Given the description of an element on the screen output the (x, y) to click on. 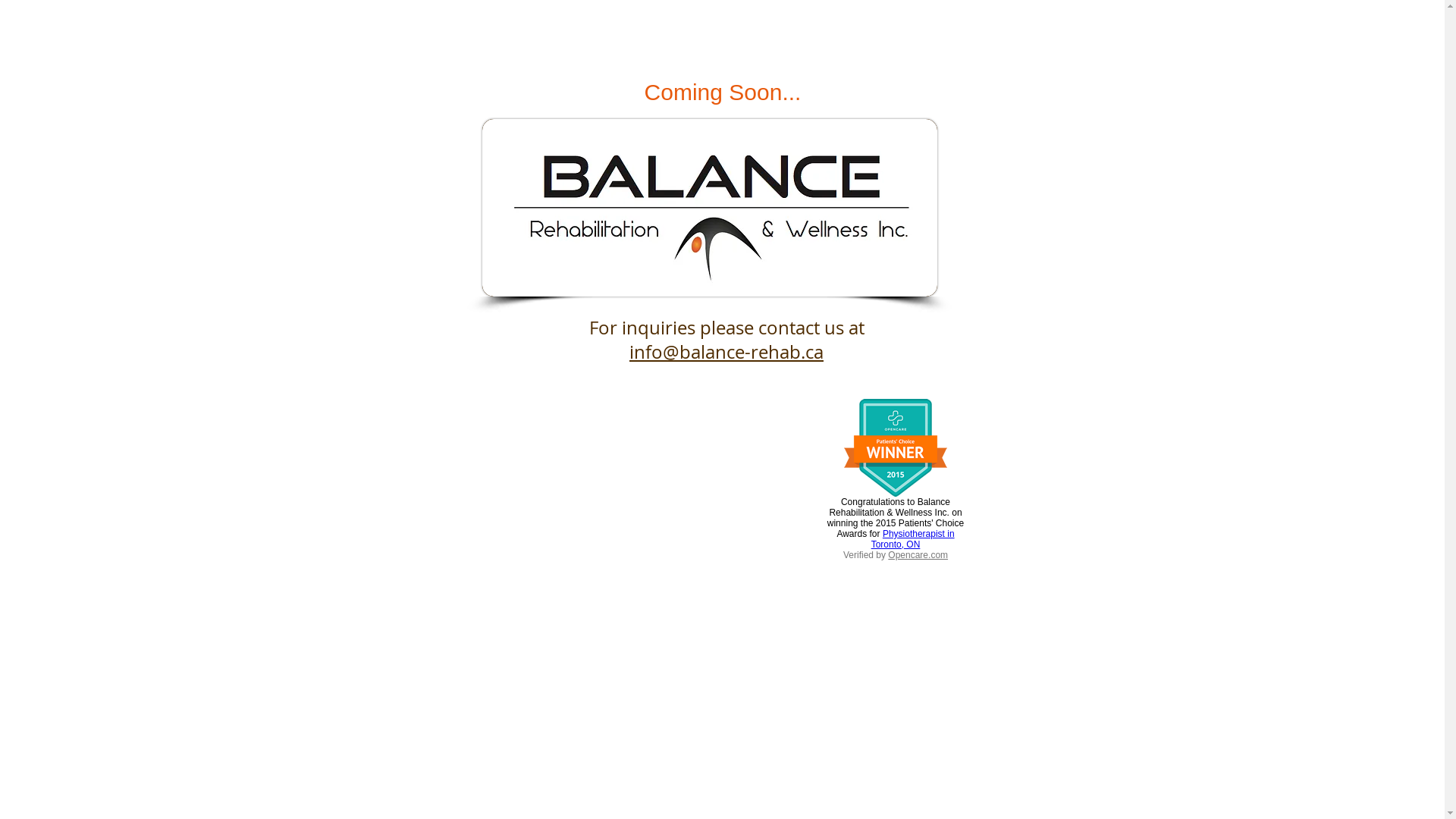
Embedded Content Element type: hover (893, 497)
info@balance-rehab.ca Element type: text (726, 351)
Google Maps Element type: hover (578, 510)
